Given the description of an element on the screen output the (x, y) to click on. 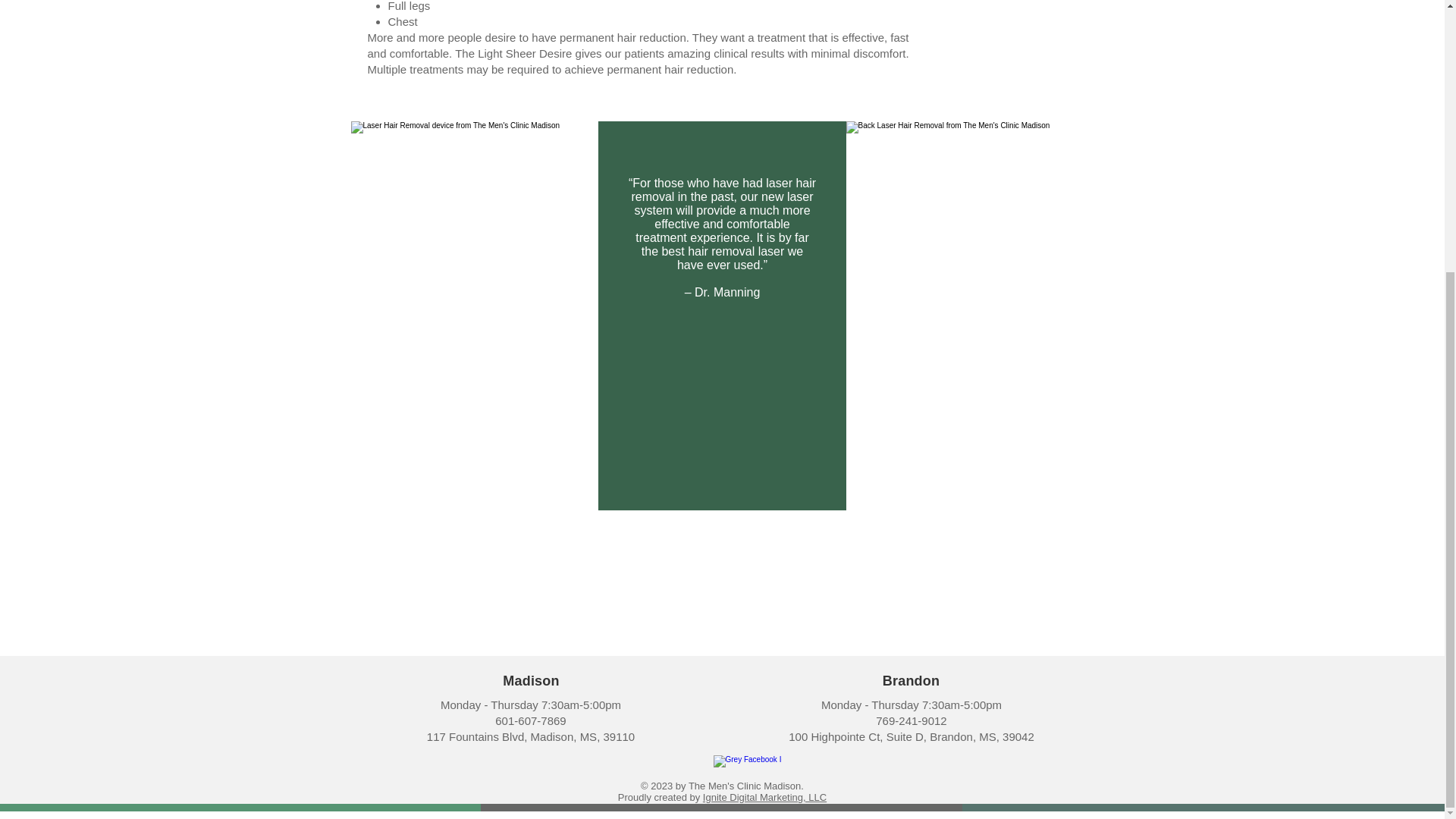
601-607-7869 (530, 720)
100 Highpointe Ct, Suite D, Brandon, MS, 39042 (911, 736)
117 Fountains Blvd, Madison, MS, 39110 (530, 736)
Ignite Digital Marketing, LLC (765, 797)
769-241-9012 (911, 720)
